Given the description of an element on the screen output the (x, y) to click on. 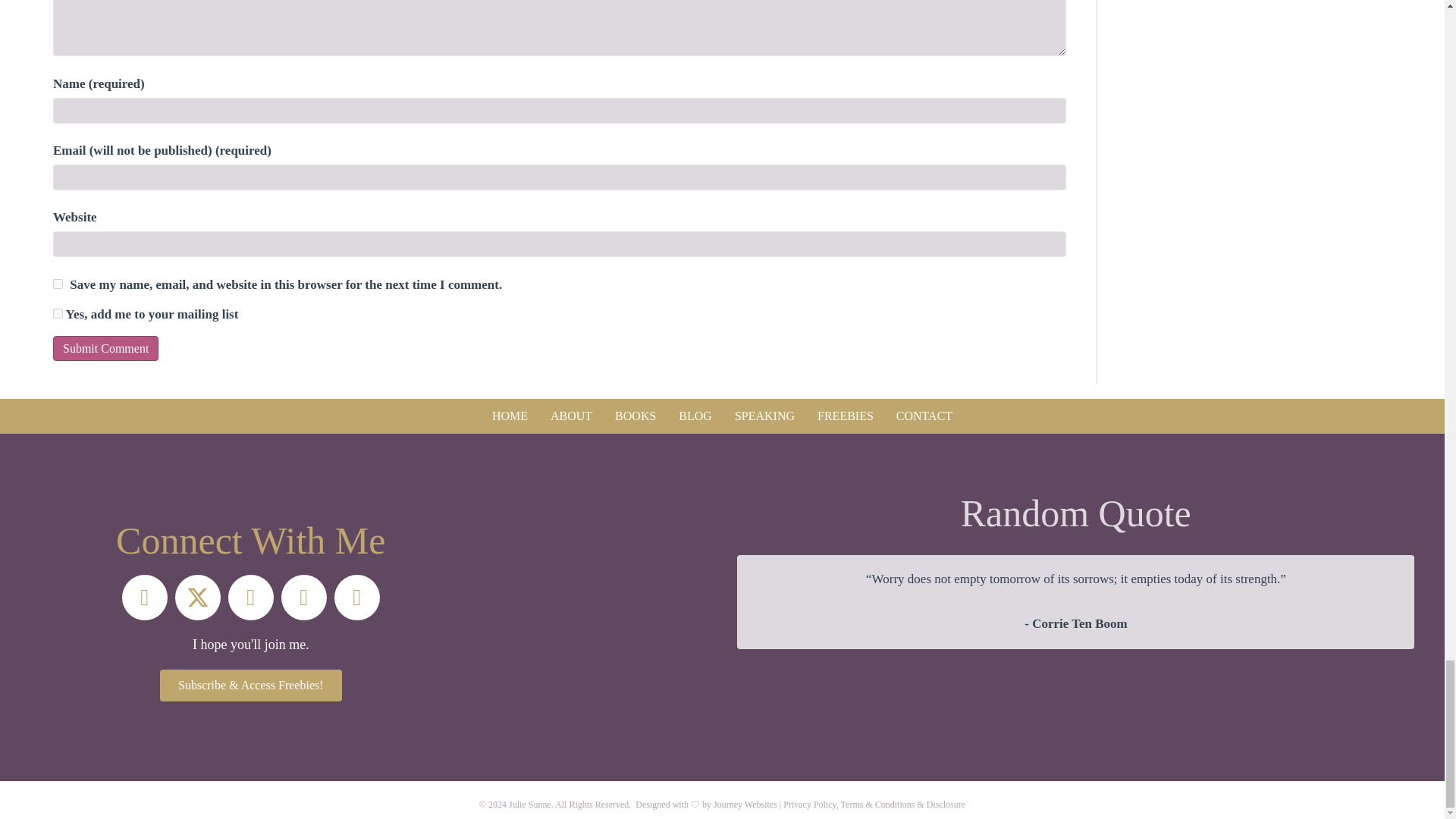
Pinterest (303, 596)
Facebook (144, 596)
yes (57, 284)
Submit Comment (105, 348)
1 (57, 313)
Instagram (250, 596)
